Given the description of an element on the screen output the (x, y) to click on. 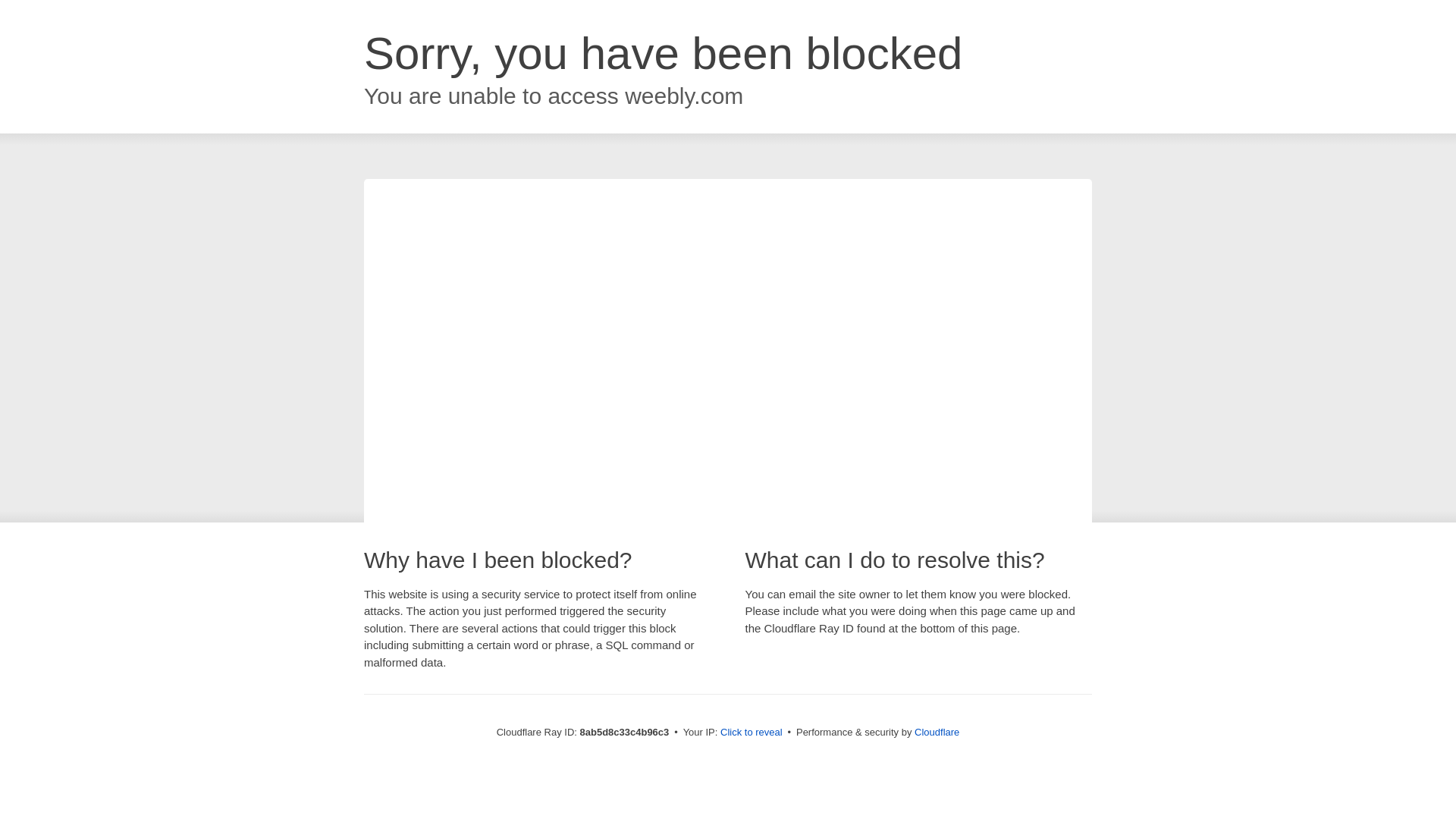
Cloudflare (936, 731)
Click to reveal (751, 732)
